Given the description of an element on the screen output the (x, y) to click on. 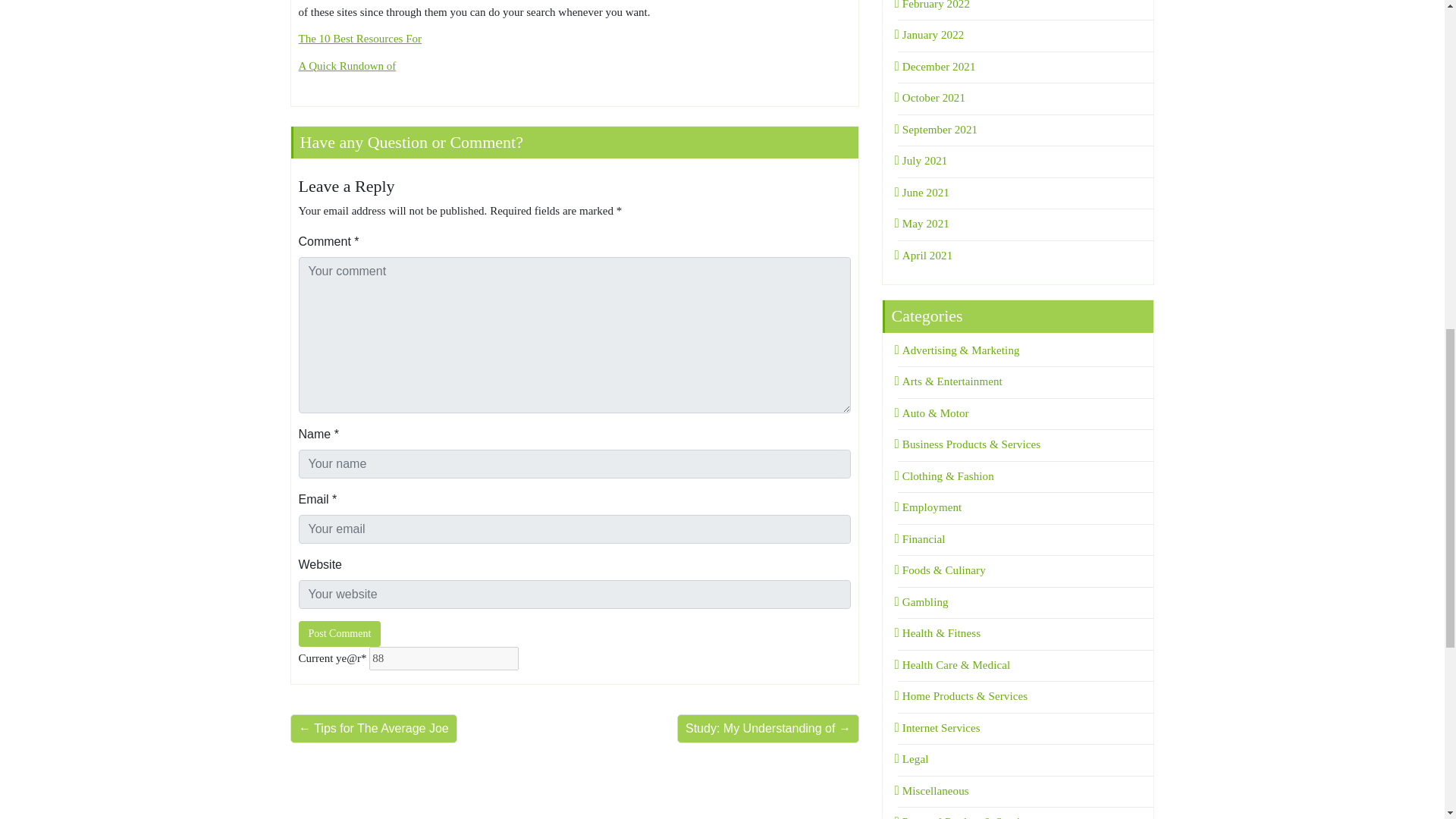
Post Comment (339, 633)
88 (443, 658)
Post Comment (339, 633)
February 2022 (934, 4)
January 2022 (930, 34)
December 2021 (936, 66)
The 10 Best Resources For (360, 38)
A Quick Rundown of (347, 65)
